Given the description of an element on the screen output the (x, y) to click on. 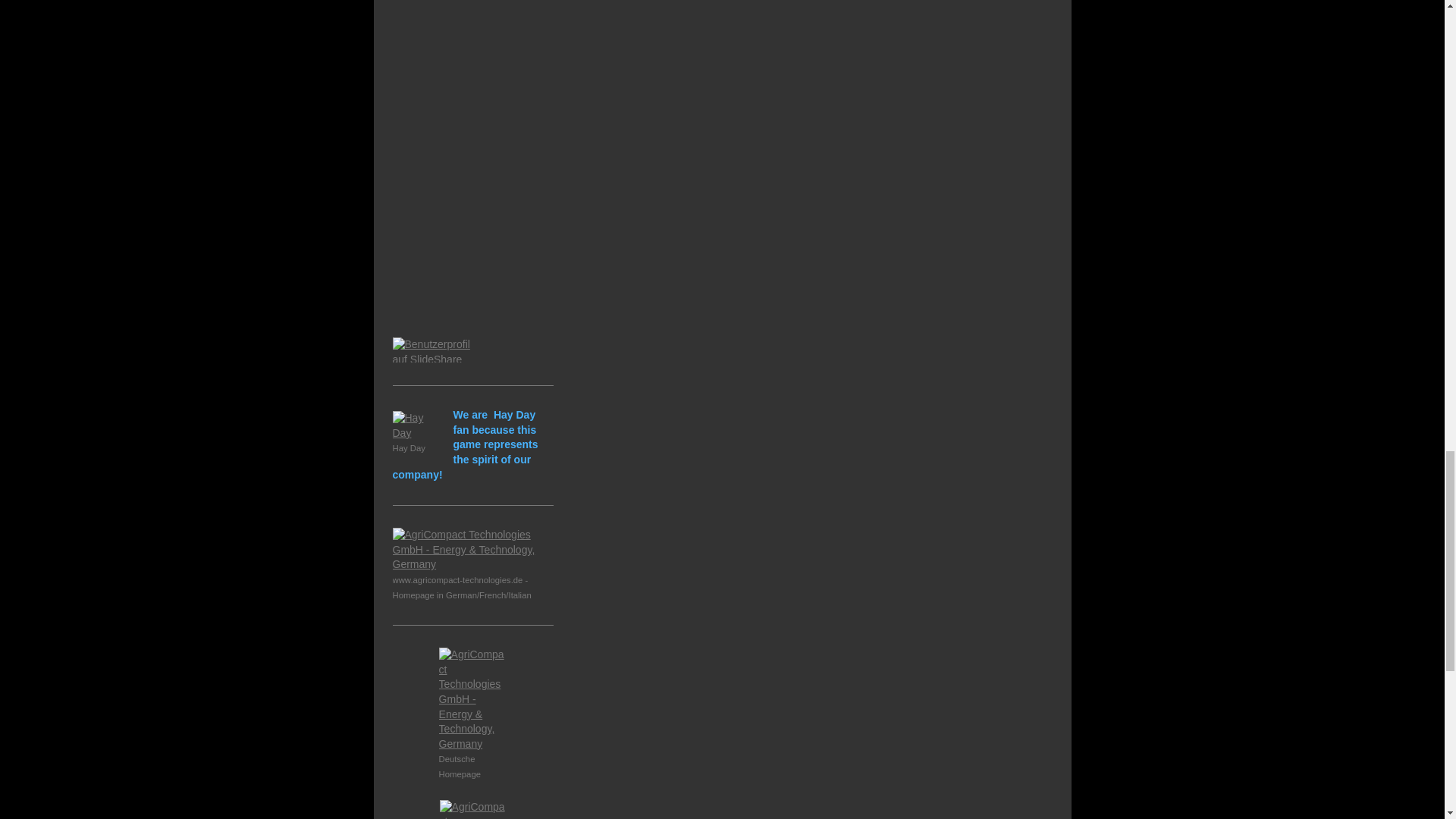
Hay Day (415, 432)
Benutzerprofil auf SlideShare anschauen (438, 349)
Sito Web Italiano (472, 809)
